Given the description of an element on the screen output the (x, y) to click on. 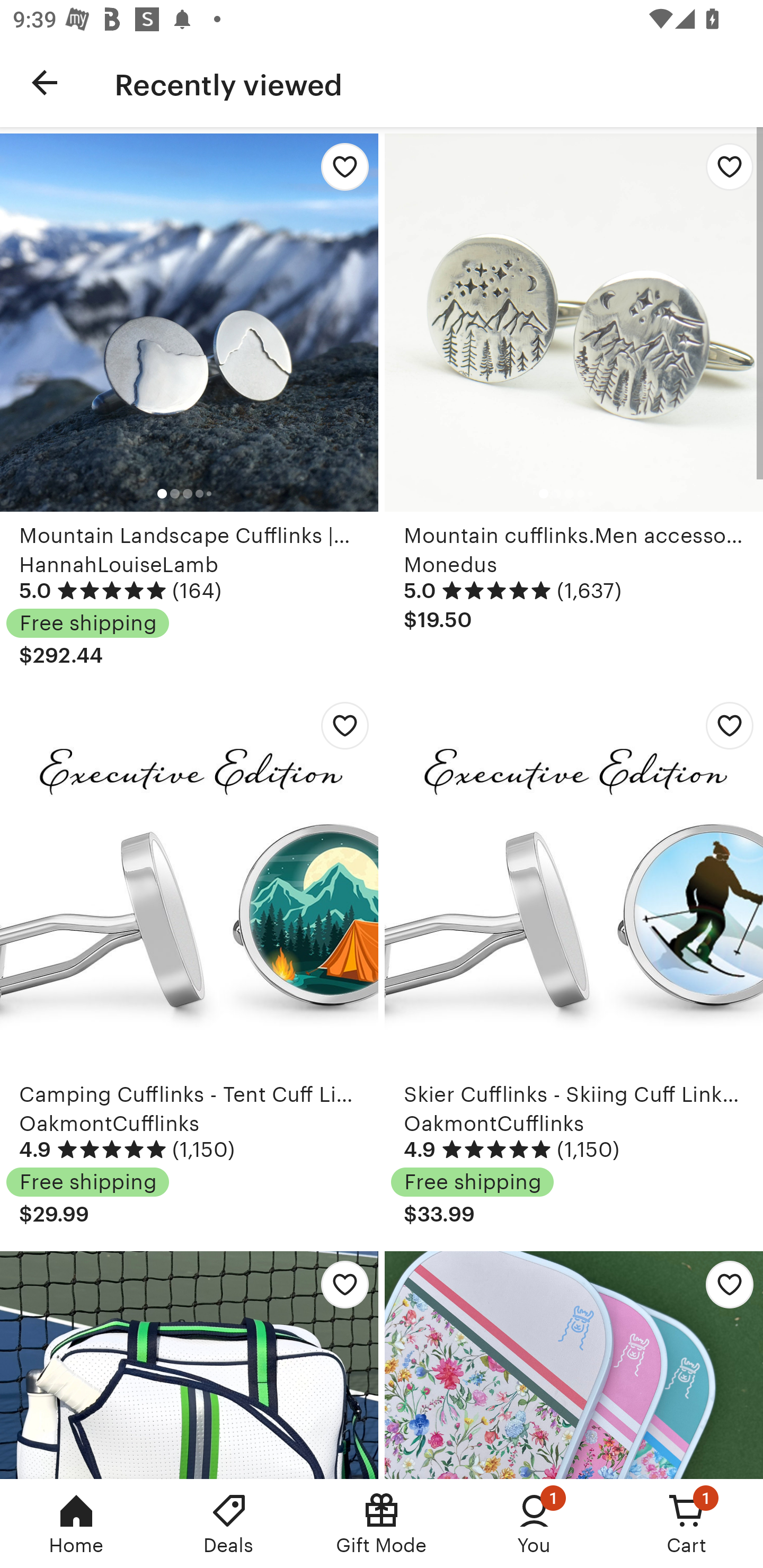
Navigate up (44, 82)
Add Flower Preppy Pickleball Paddle to favorites (724, 1289)
Deals (228, 1523)
Gift Mode (381, 1523)
You, 1 new notification You (533, 1523)
Cart, 1 new notification Cart (686, 1523)
